Given the description of an element on the screen output the (x, y) to click on. 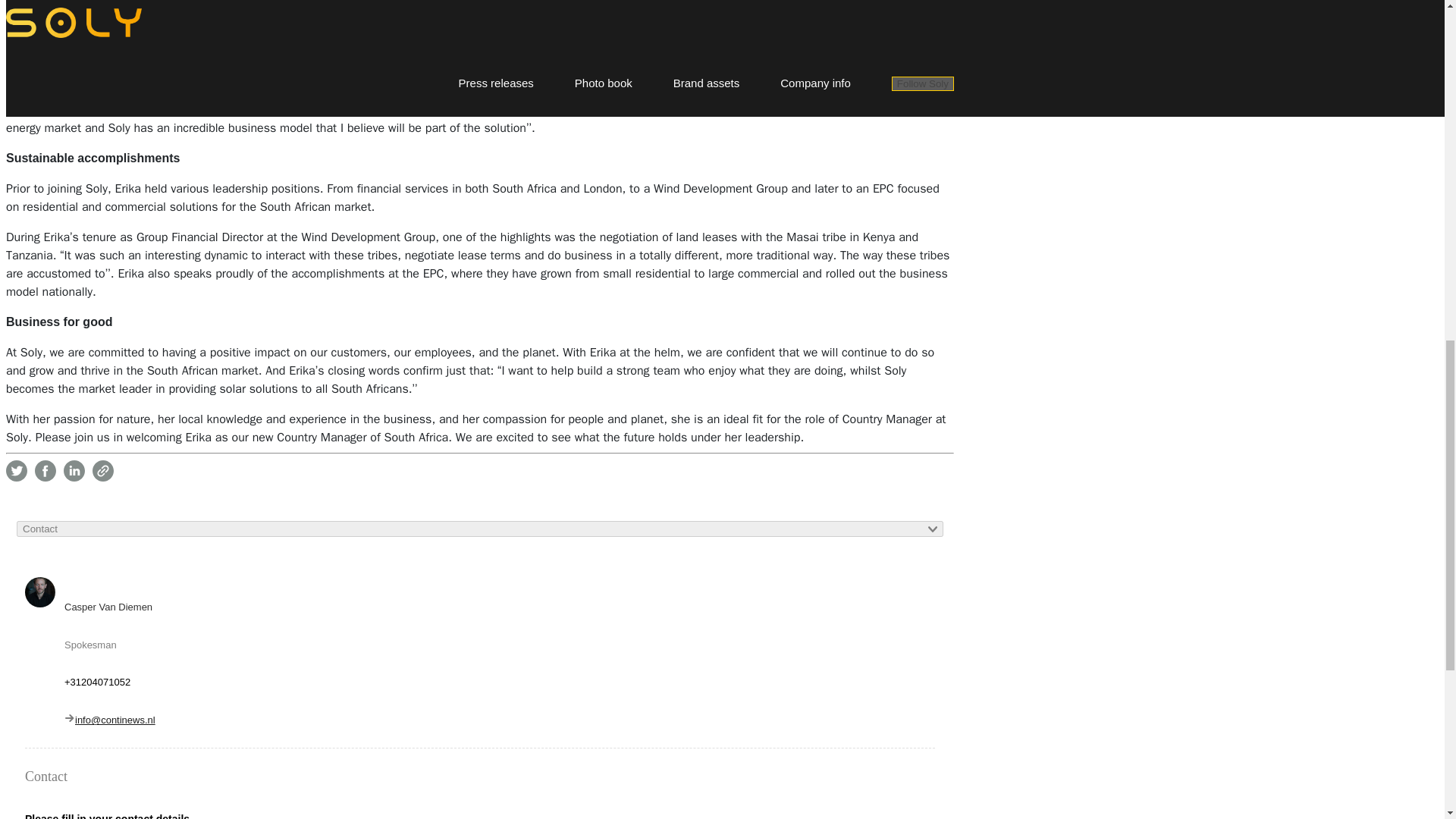
Click to copy URL (103, 470)
Share on Twitter (16, 470)
Share on Linkedin (74, 470)
Contact (479, 528)
Share on Facebook (45, 470)
